Given the description of an element on the screen output the (x, y) to click on. 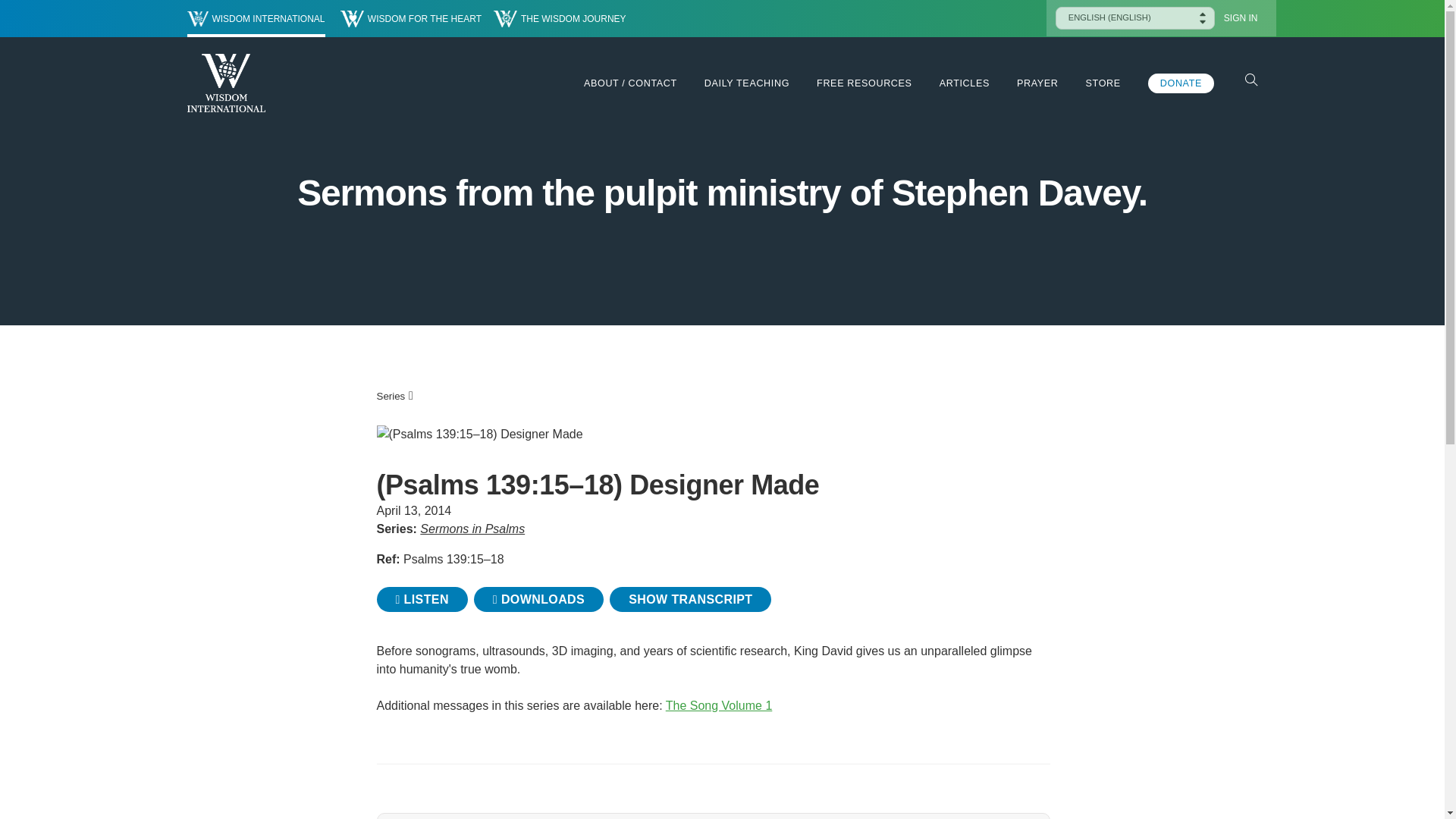
THE WISDOM JOURNEY (559, 18)
LISTEN (421, 599)
Sign In (1240, 18)
DONATE (1181, 83)
Sermons in Psalms (472, 529)
SIGN IN (1240, 18)
WISDOM FOR THE HEART (410, 18)
WISDOM INTERNATIONAL (255, 18)
The Song Volume 1 (719, 705)
DAILY TEACHING (746, 83)
FREE RESOURCES (864, 83)
SHOW TRANSCRIPT (690, 599)
DOWNLOADS (539, 599)
